Given the description of an element on the screen output the (x, y) to click on. 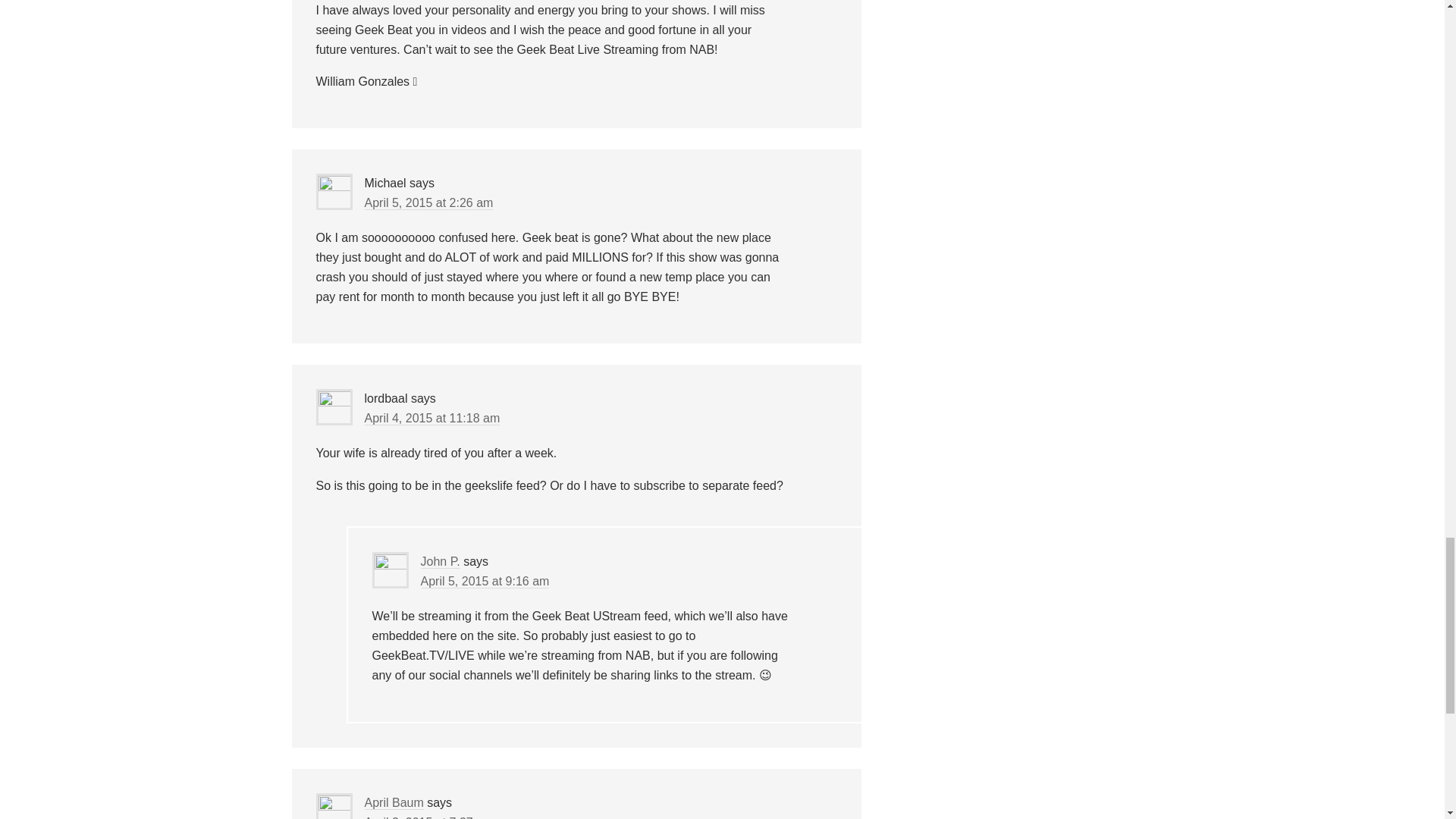
April 5, 2015 at 2:26 am (428, 202)
April 4, 2015 at 11:18 am (431, 418)
